Given the description of an element on the screen output the (x, y) to click on. 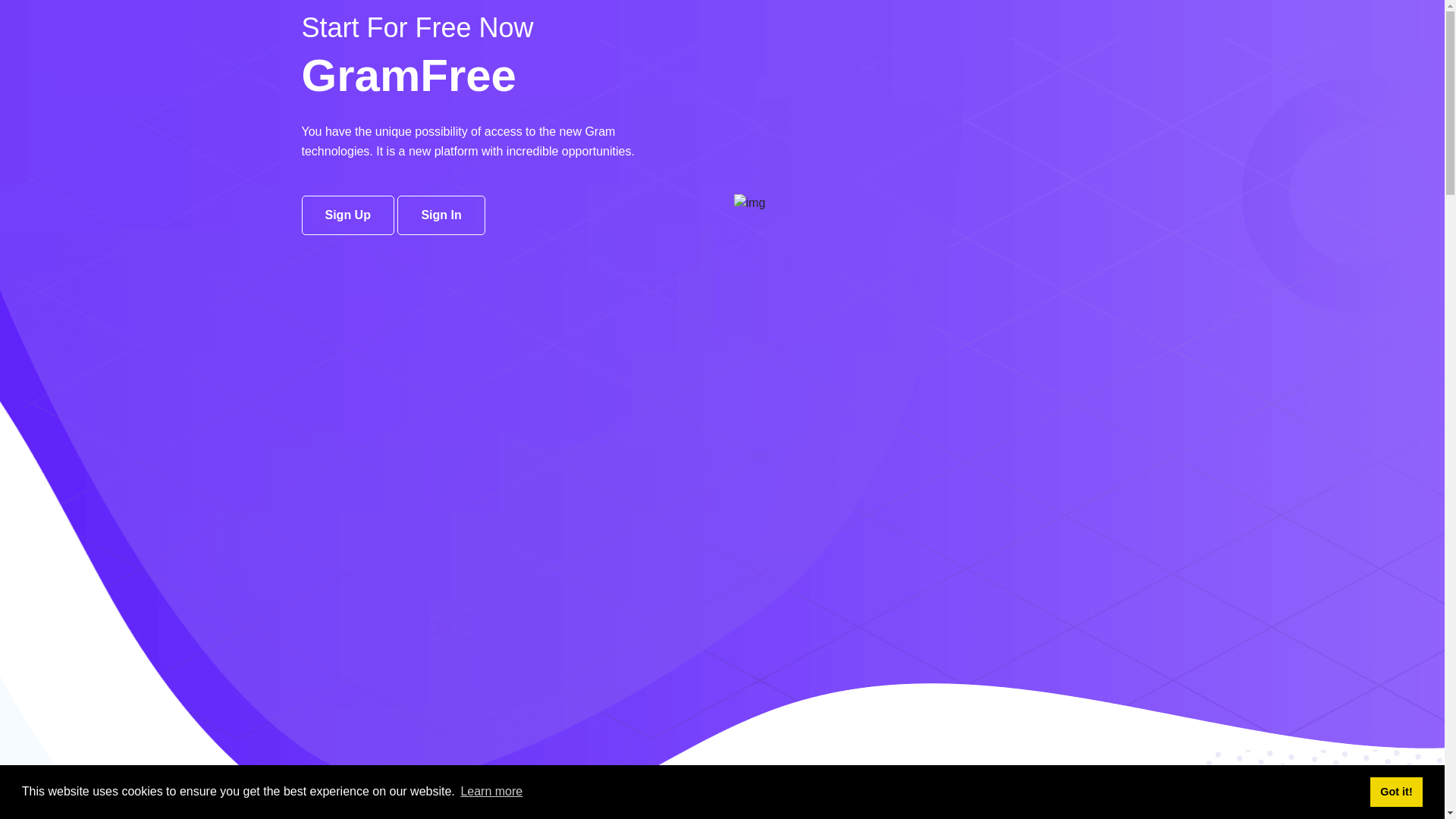
Sign In Element type: text (440, 215)
Got it! Element type: text (1396, 791)
Learn more Element type: text (491, 791)
Sign Up Element type: text (347, 215)
